Given the description of an element on the screen output the (x, y) to click on. 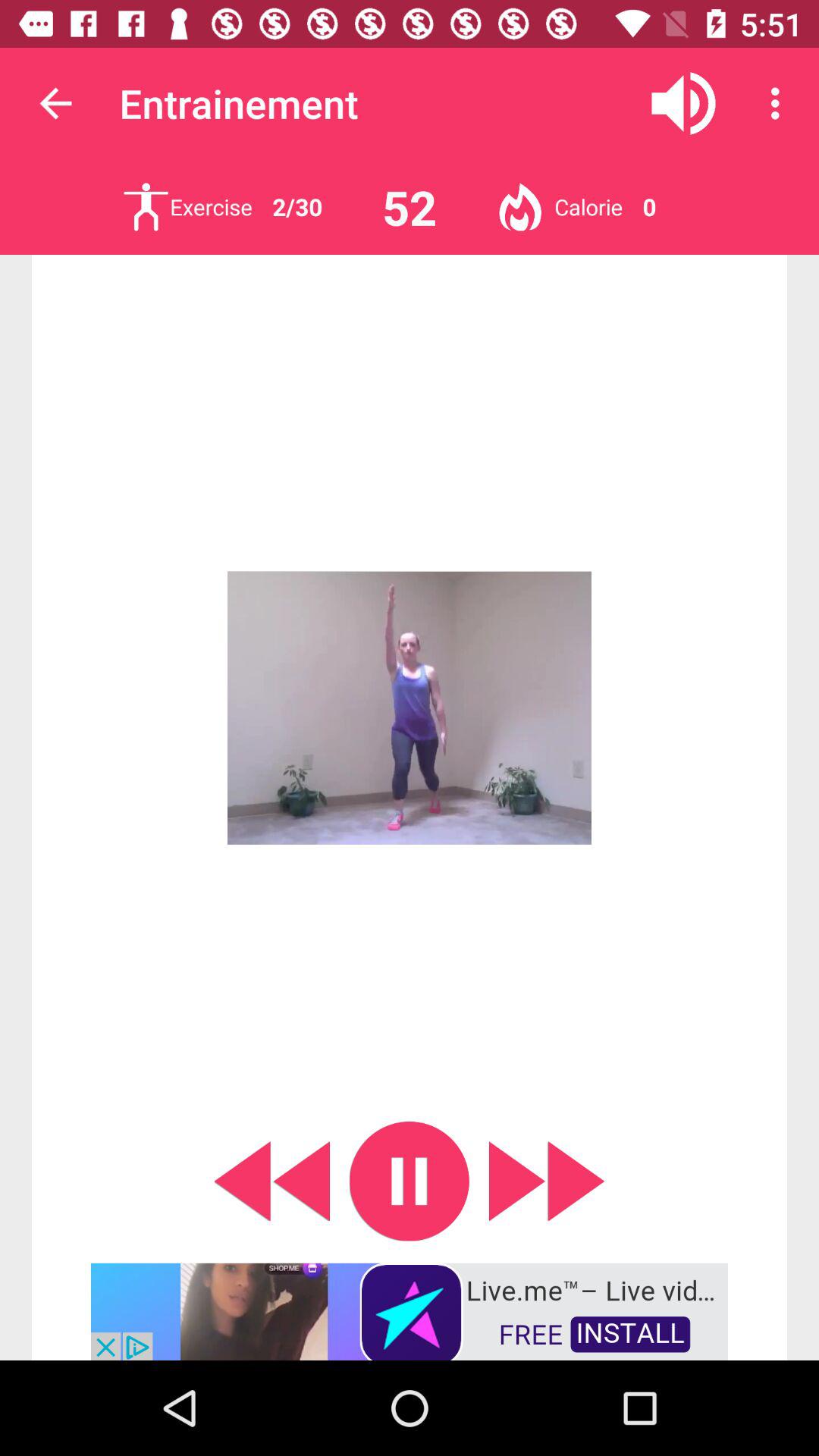
skip forward (546, 1181)
